Given the description of an element on the screen output the (x, y) to click on. 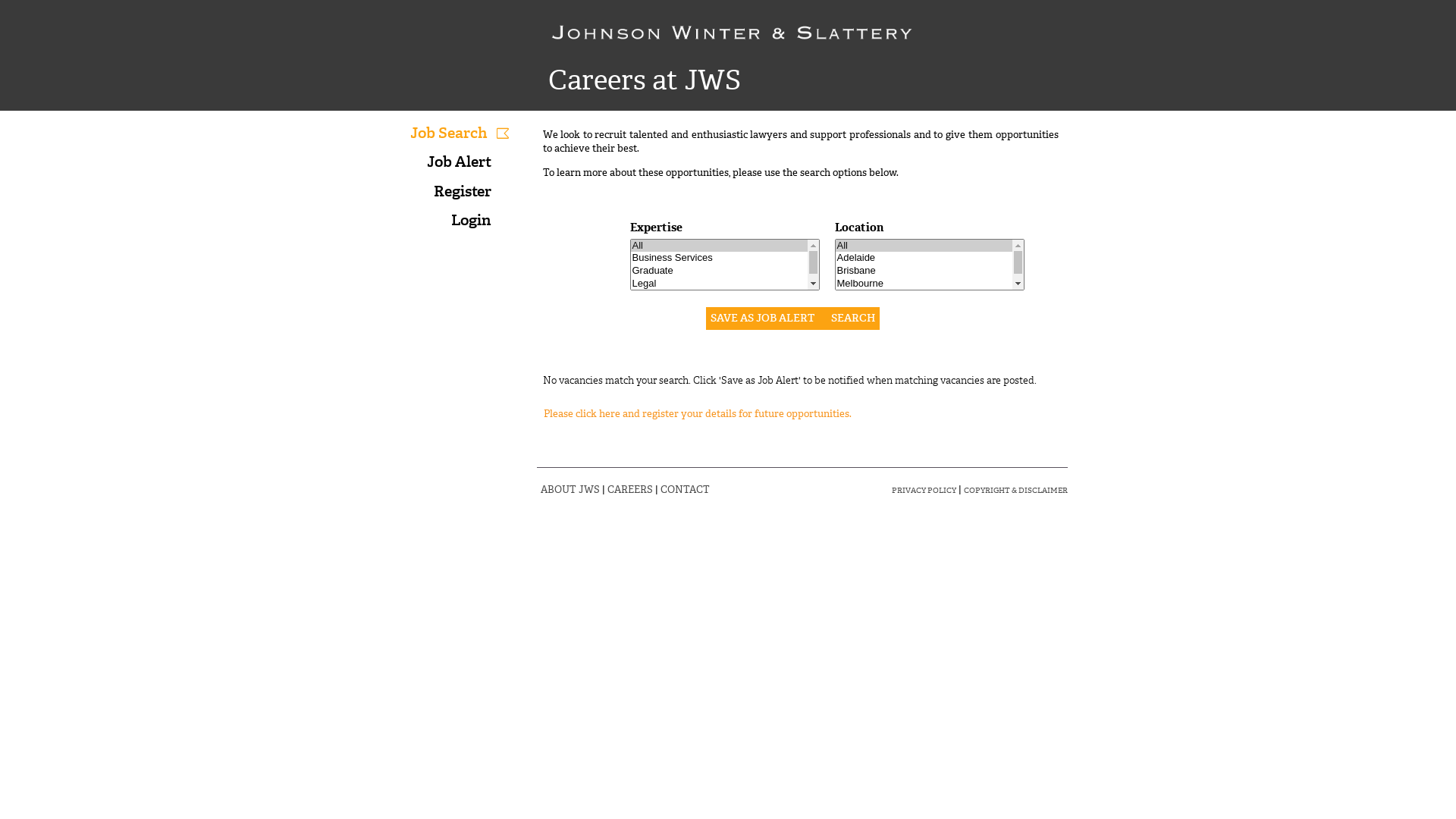
CAREERS Element type: text (629, 489)
PRIVACY POLICY Element type: text (923, 490)
COPYRIGHT & DISCLAIMER Element type: text (1014, 490)
Job Alert Element type: text (458, 161)
Register Element type: text (462, 190)
CONTACT Element type: text (684, 489)
Save as job alert Element type: text (762, 318)
ABOUT JWS Element type: text (569, 489)
Login Element type: text (470, 219)
Search Element type: text (852, 318)
Job Search Element type: text (449, 132)
